Given the description of an element on the screen output the (x, y) to click on. 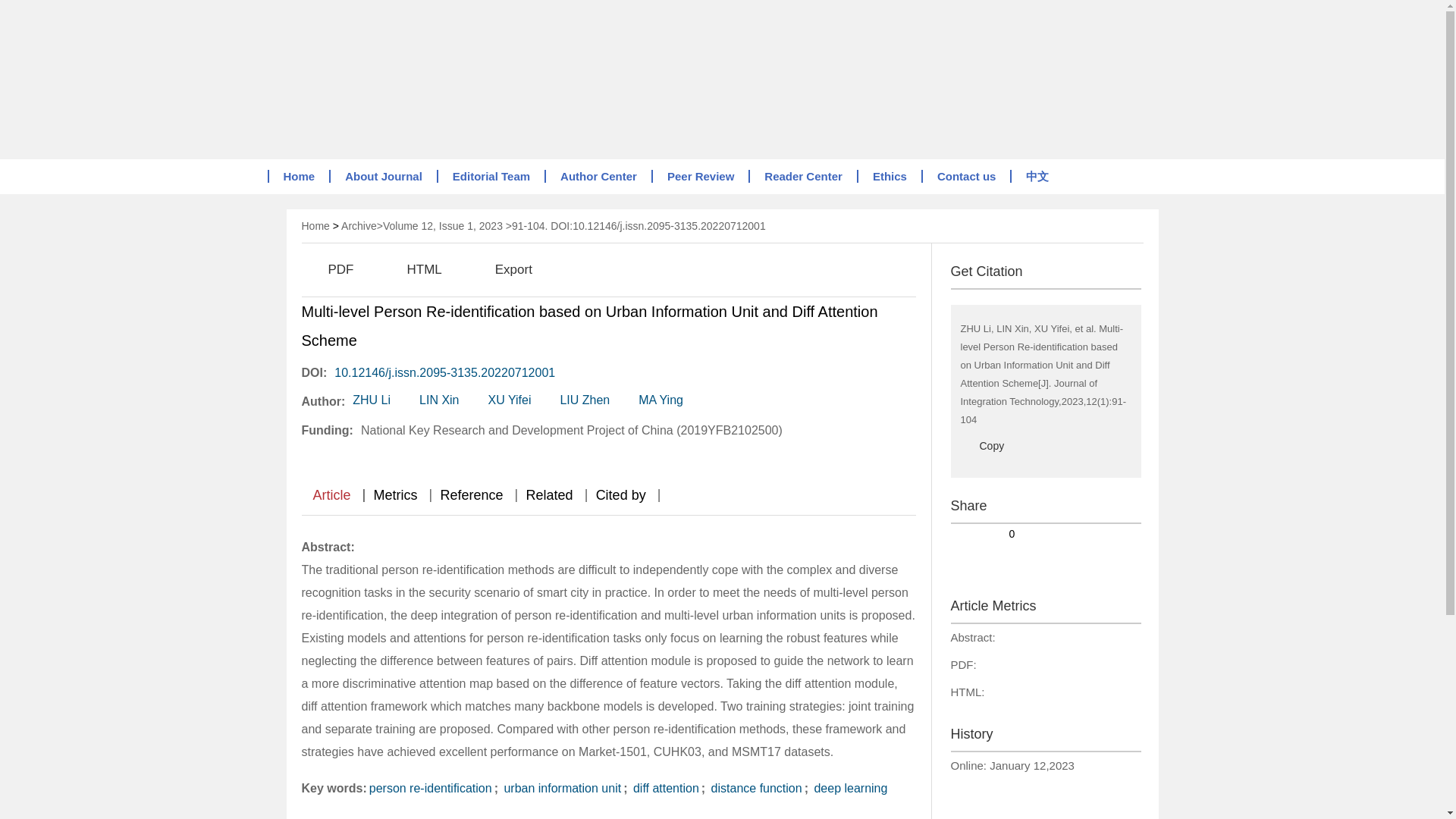
Home (297, 175)
Author Center (597, 175)
HTML (411, 270)
Contact us (965, 175)
PDF (327, 270)
Peer Review (699, 175)
Volume 12, Issue 1, 2023 (442, 225)
Ethics (889, 175)
Home (315, 225)
Reader Center (802, 175)
About Journal (382, 175)
Editorial Team (490, 175)
Archive (358, 225)
